Given the description of an element on the screen output the (x, y) to click on. 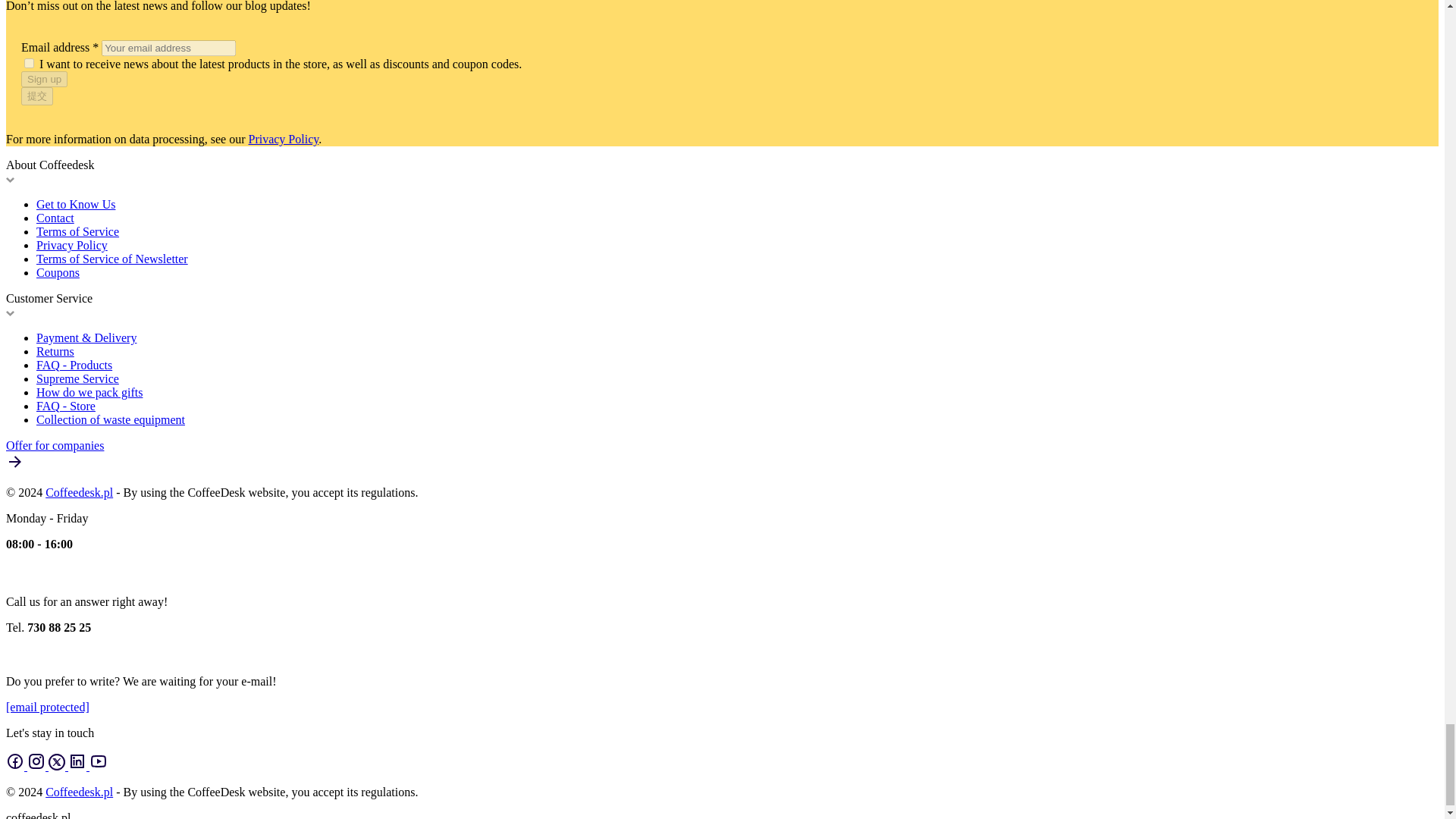
on (28, 62)
